Given the description of an element on the screen output the (x, y) to click on. 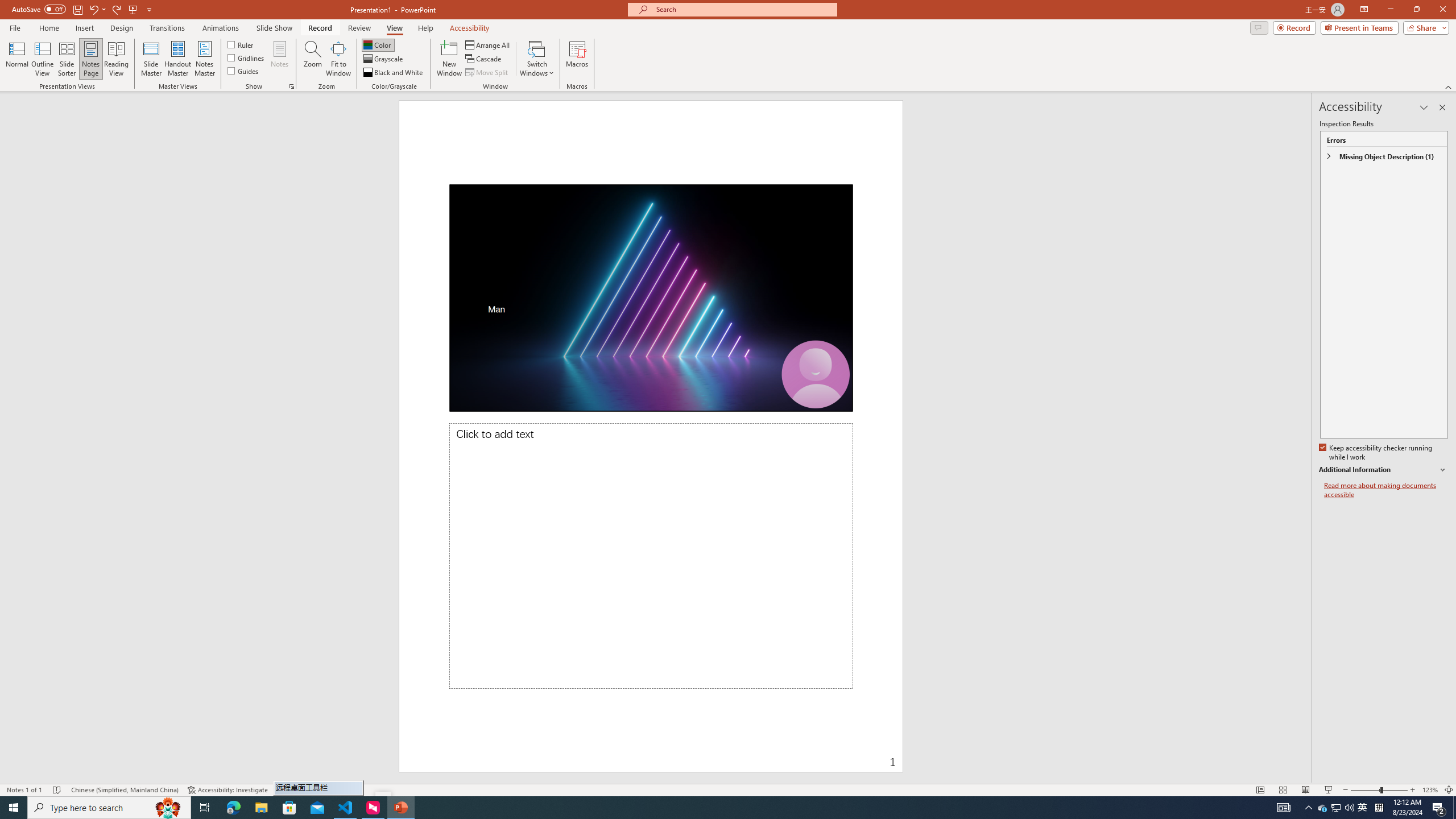
Guides (243, 69)
